Given the description of an element on the screen output the (x, y) to click on. 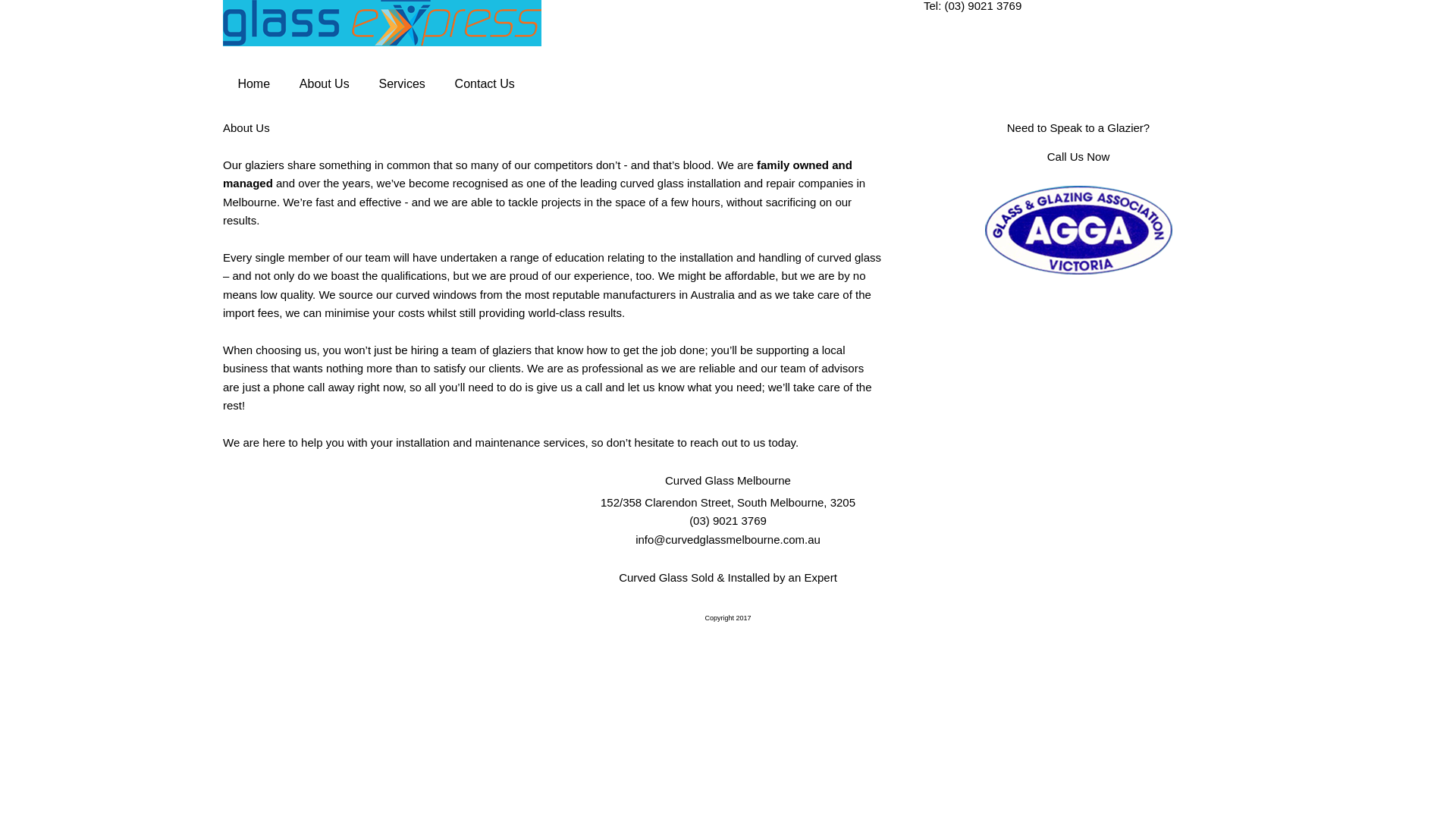
Home Element type: text (253, 84)
Contact Us Element type: text (484, 84)
About Us Element type: text (324, 84)
Need to Speak to a Glazier?
Call Us Now Element type: text (1078, 142)
Services Element type: text (401, 84)
